Given the description of an element on the screen output the (x, y) to click on. 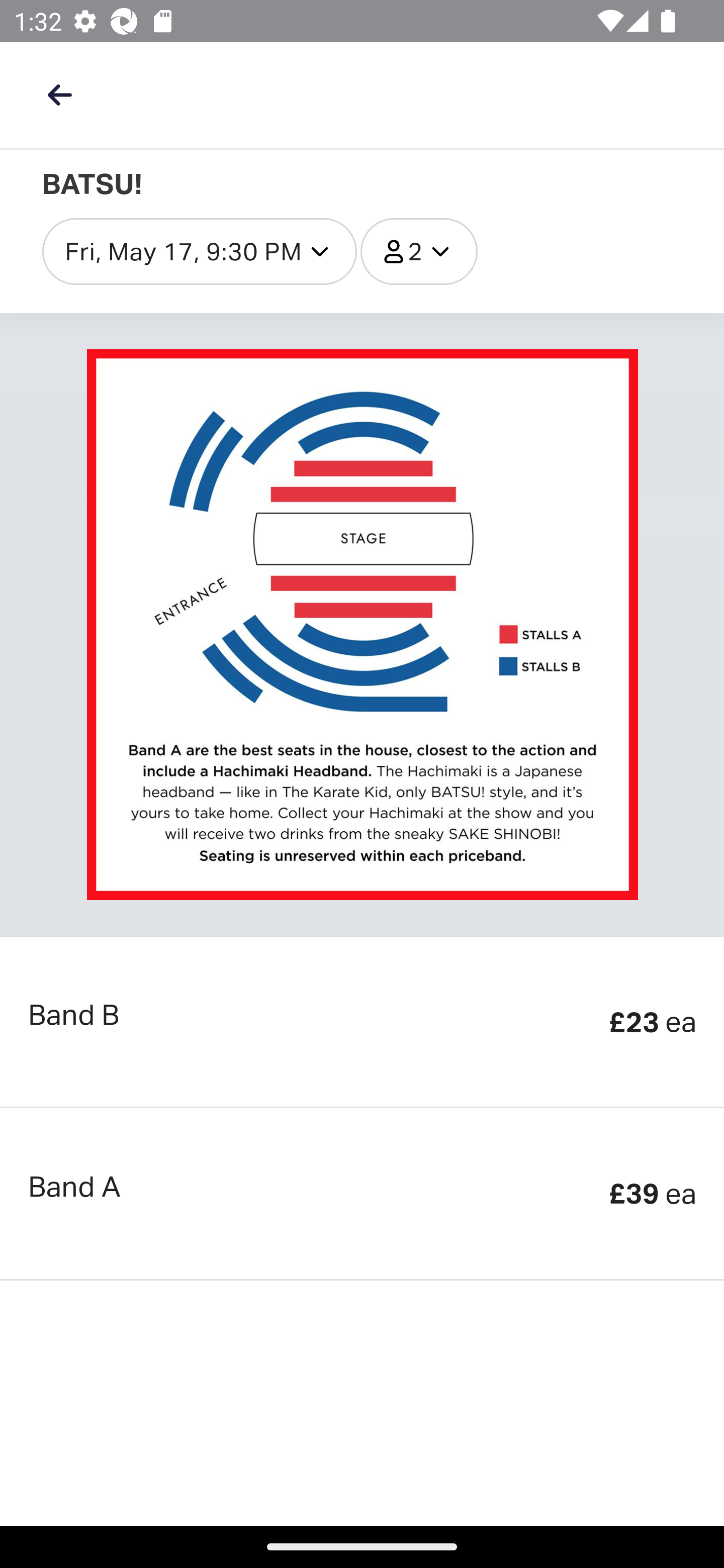
back button (59, 94)
Fri, May 17, 9:30 PM (198, 251)
2 (418, 251)
Band B£23ea (362, 1022)
Band A£39ea (362, 1194)
